Given the description of an element on the screen output the (x, y) to click on. 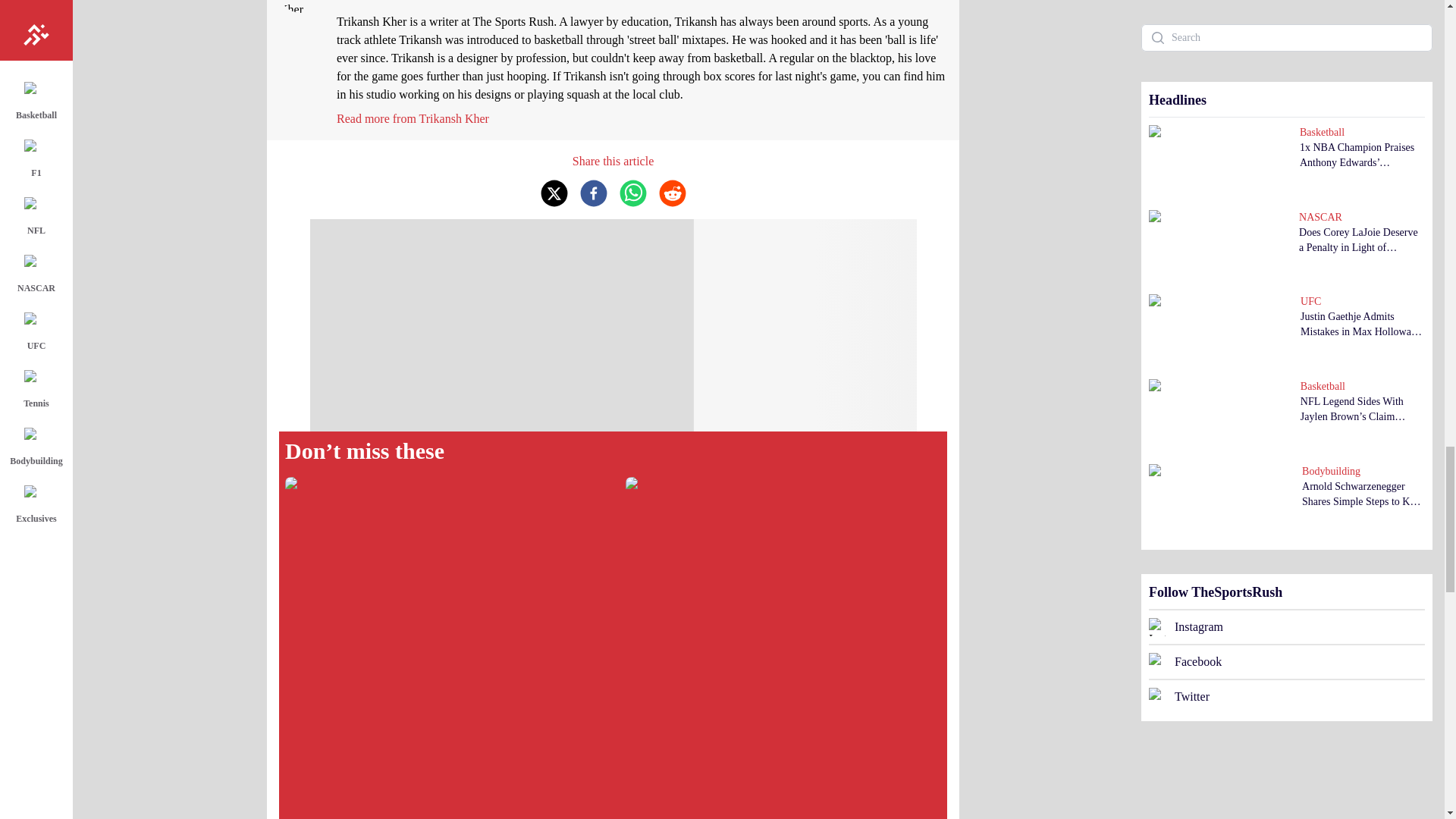
Read more from Trikansh Kher (412, 118)
Trikansh Kher (412, 118)
